Given the description of an element on the screen output the (x, y) to click on. 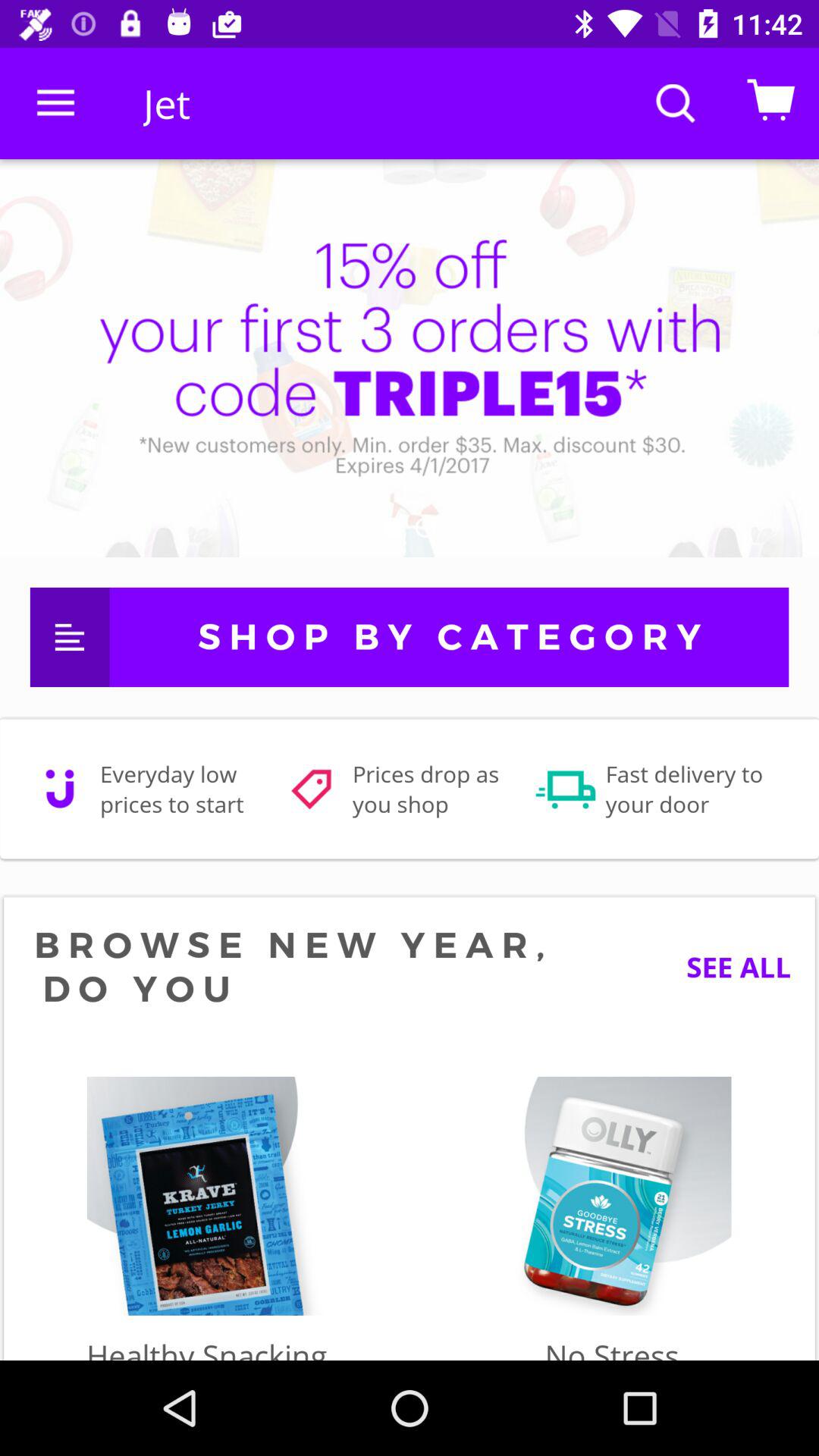
launch the see all item (727, 966)
